Given the description of an element on the screen output the (x, y) to click on. 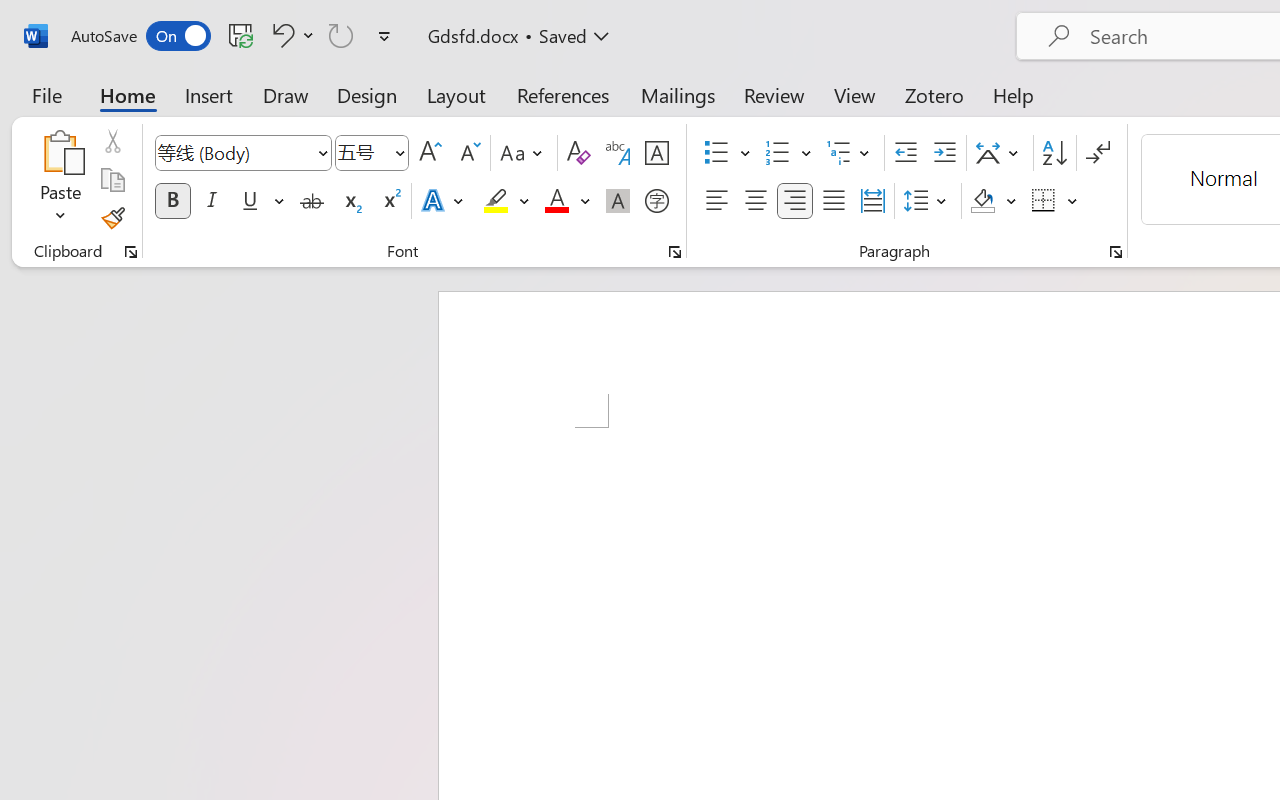
Italic (212, 201)
